Given the description of an element on the screen output the (x, y) to click on. 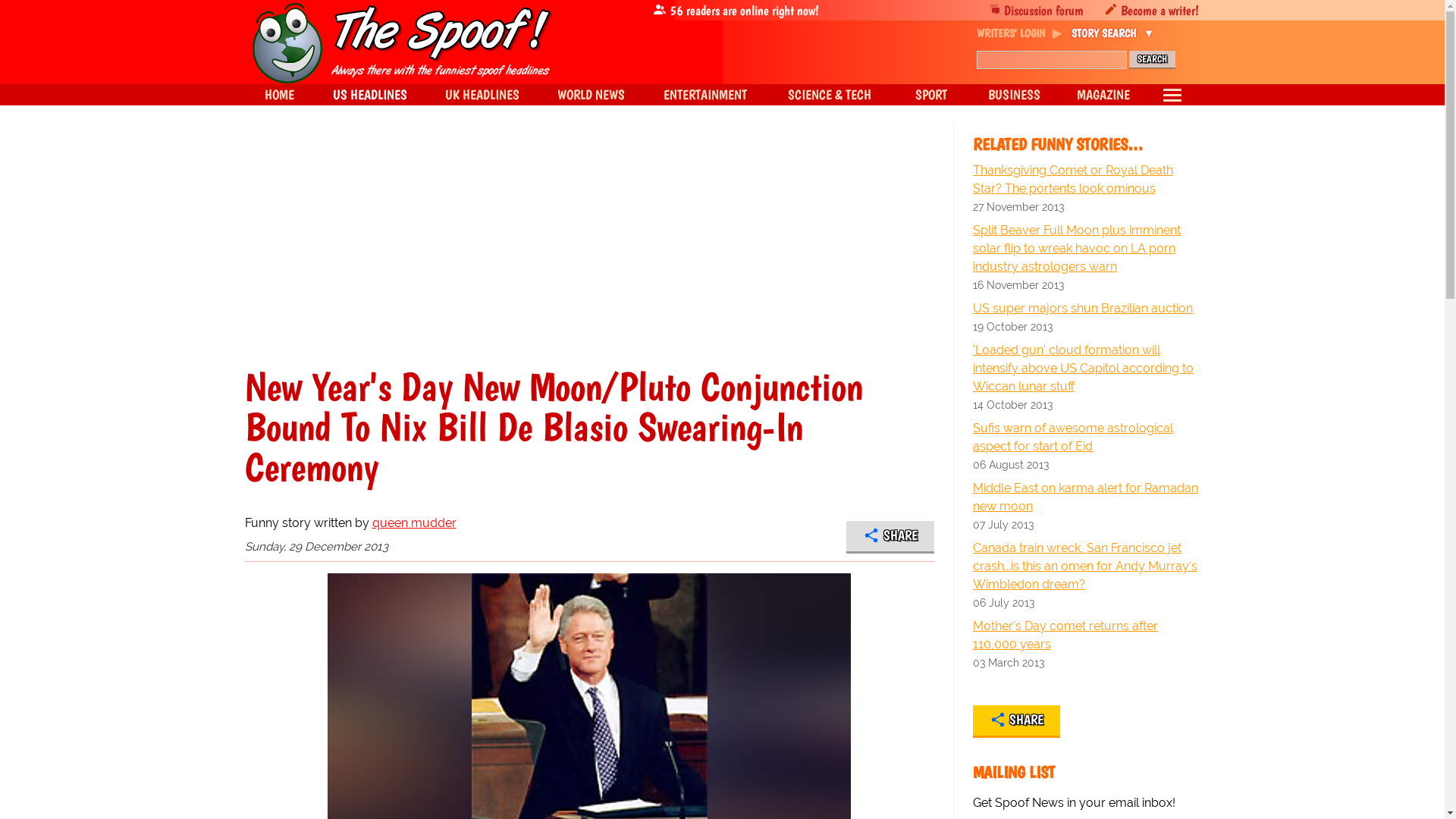
Mother's Day comet returns after 110,000 years (1085, 635)
queen mudder (413, 522)
Spoof News World News (590, 94)
Satire headlines (278, 94)
Middle East on karma alert for Ramadan new moon (1085, 497)
